Given the description of an element on the screen output the (x, y) to click on. 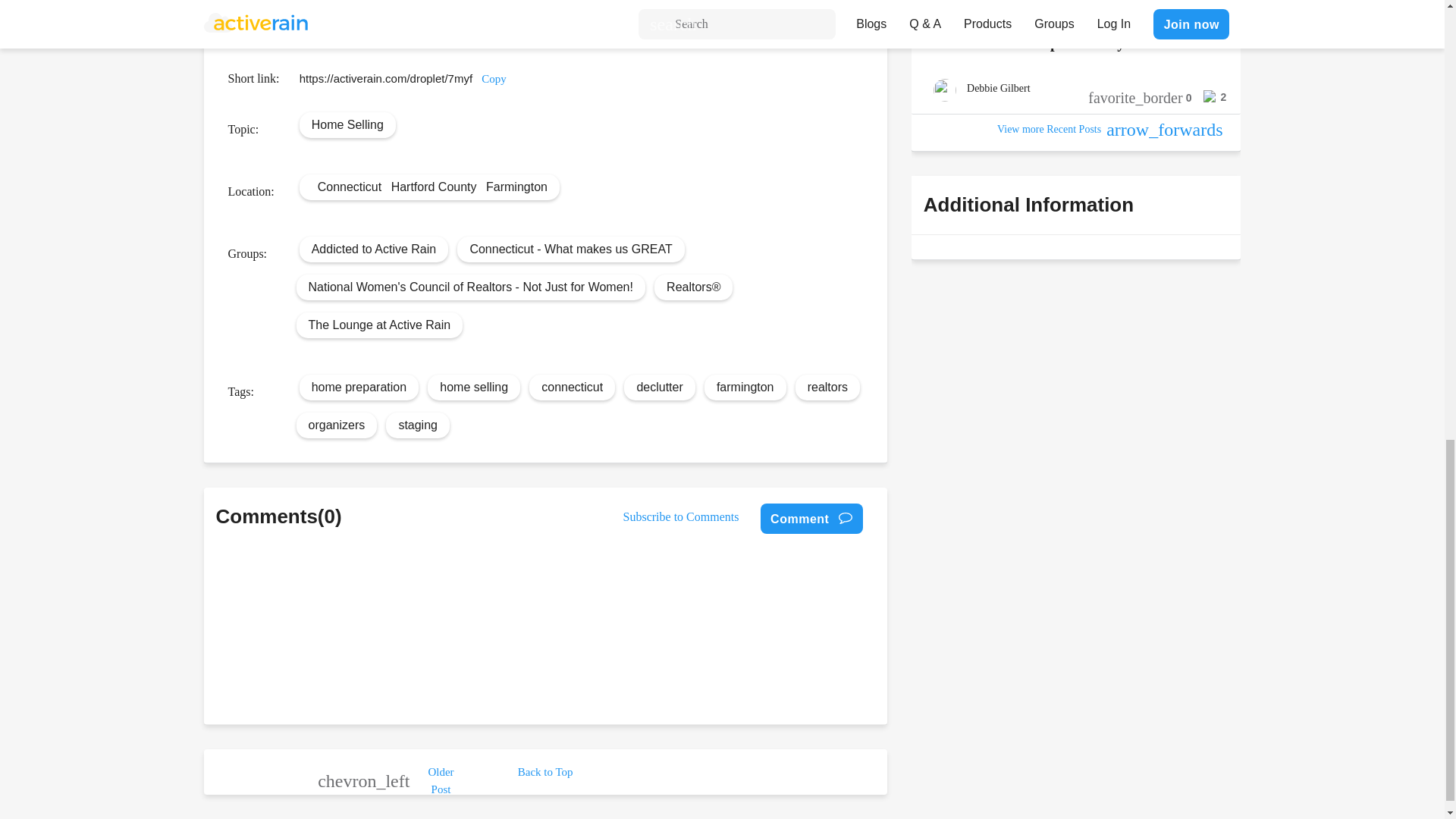
Connecticut (349, 186)
repeat 0 (582, 18)
Farmington (516, 186)
Connecticut - What makes us GREAT (569, 248)
Copy (493, 78)
Addicted to Active Rain (373, 248)
Home Selling (347, 124)
Hartford County (434, 186)
Re-Blog (529, 18)
This entry hasn't been re-blogged (582, 18)
